Given the description of an element on the screen output the (x, y) to click on. 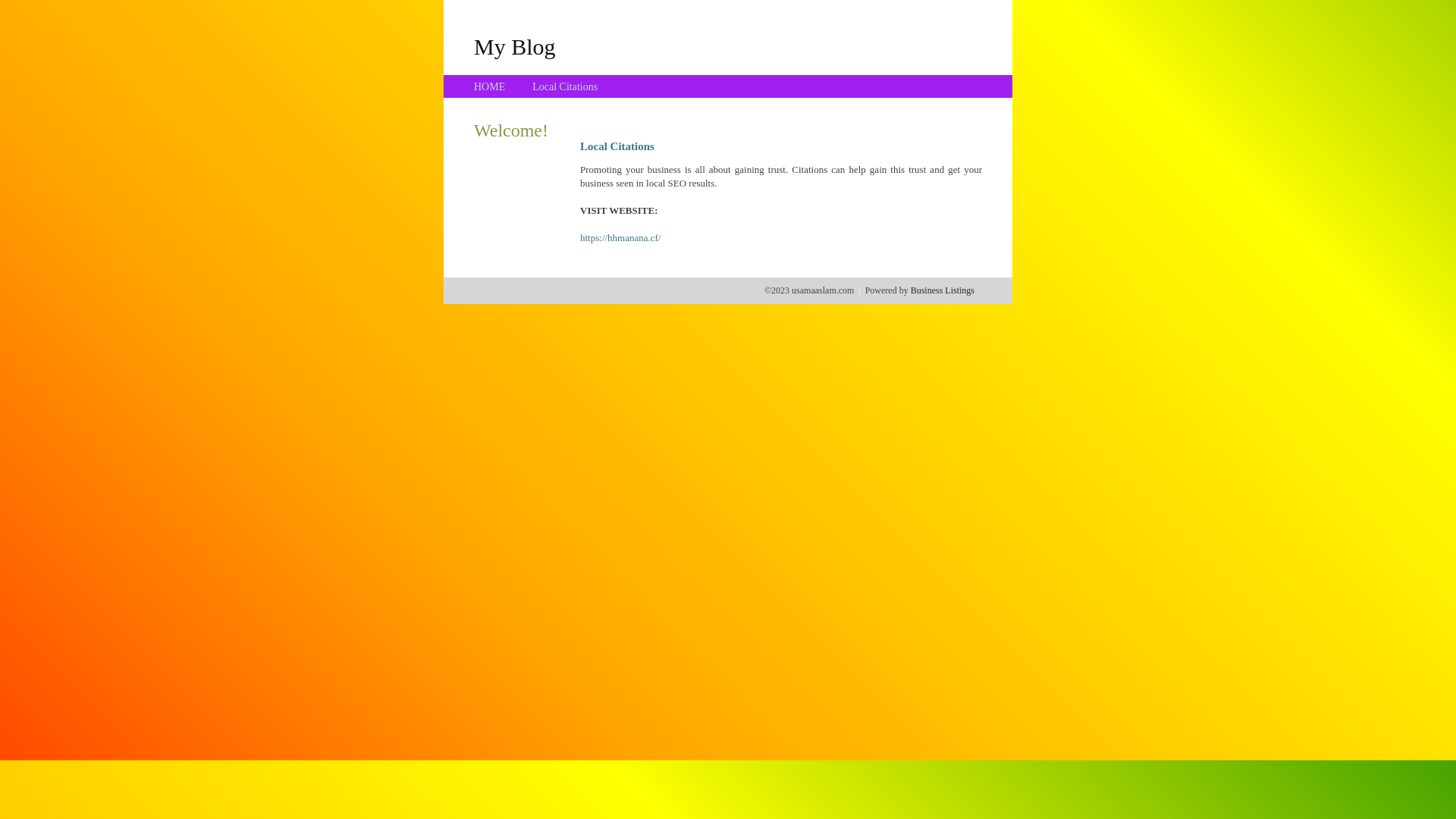
https://hhmanana.cf/ Element type: text (620, 237)
My Blog Element type: text (514, 46)
HOME Element type: text (489, 86)
Local Citations Element type: text (564, 86)
Business Listings Element type: text (942, 290)
